Given the description of an element on the screen output the (x, y) to click on. 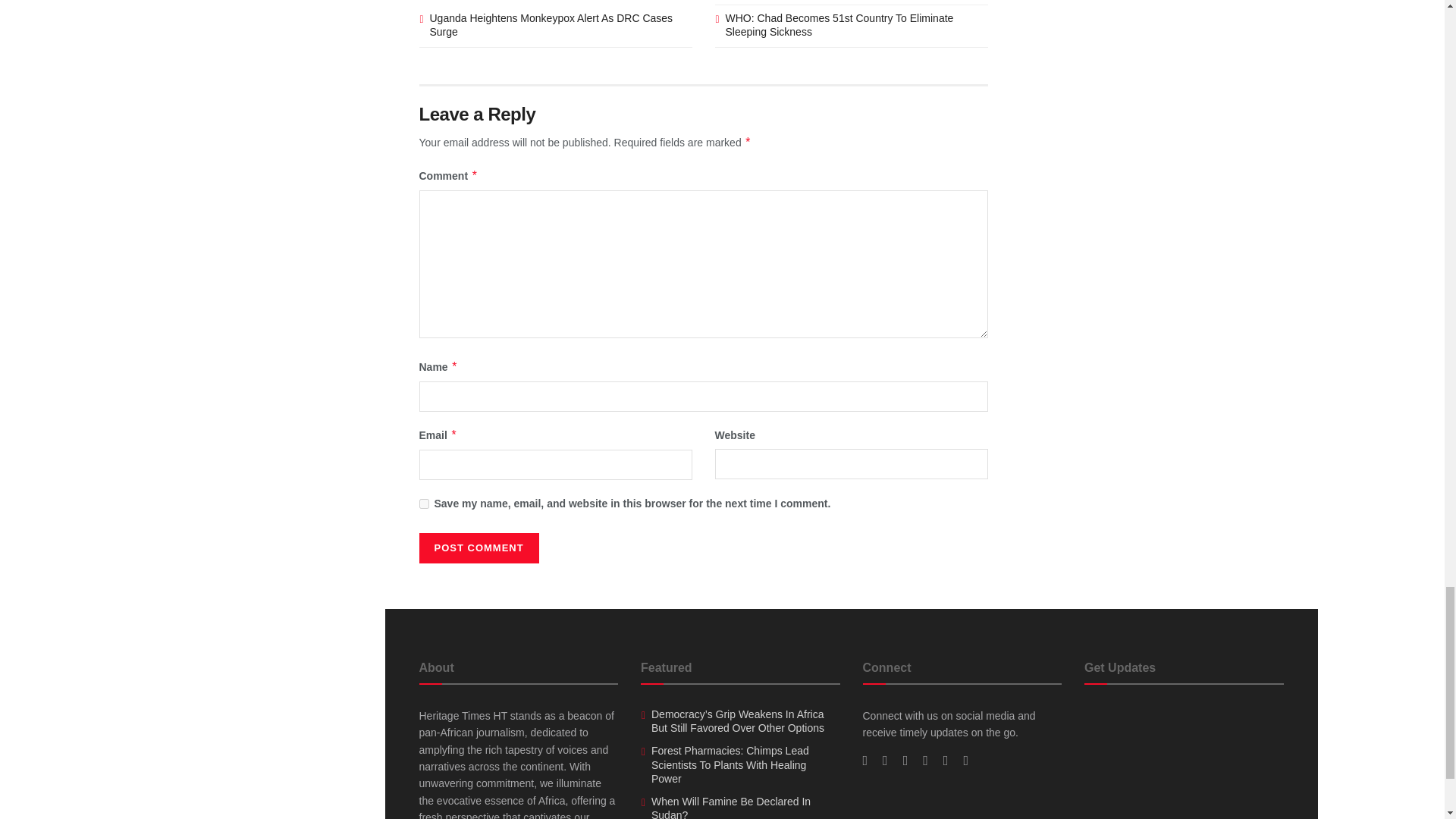
Post Comment (478, 548)
yes (423, 503)
